Given the description of an element on the screen output the (x, y) to click on. 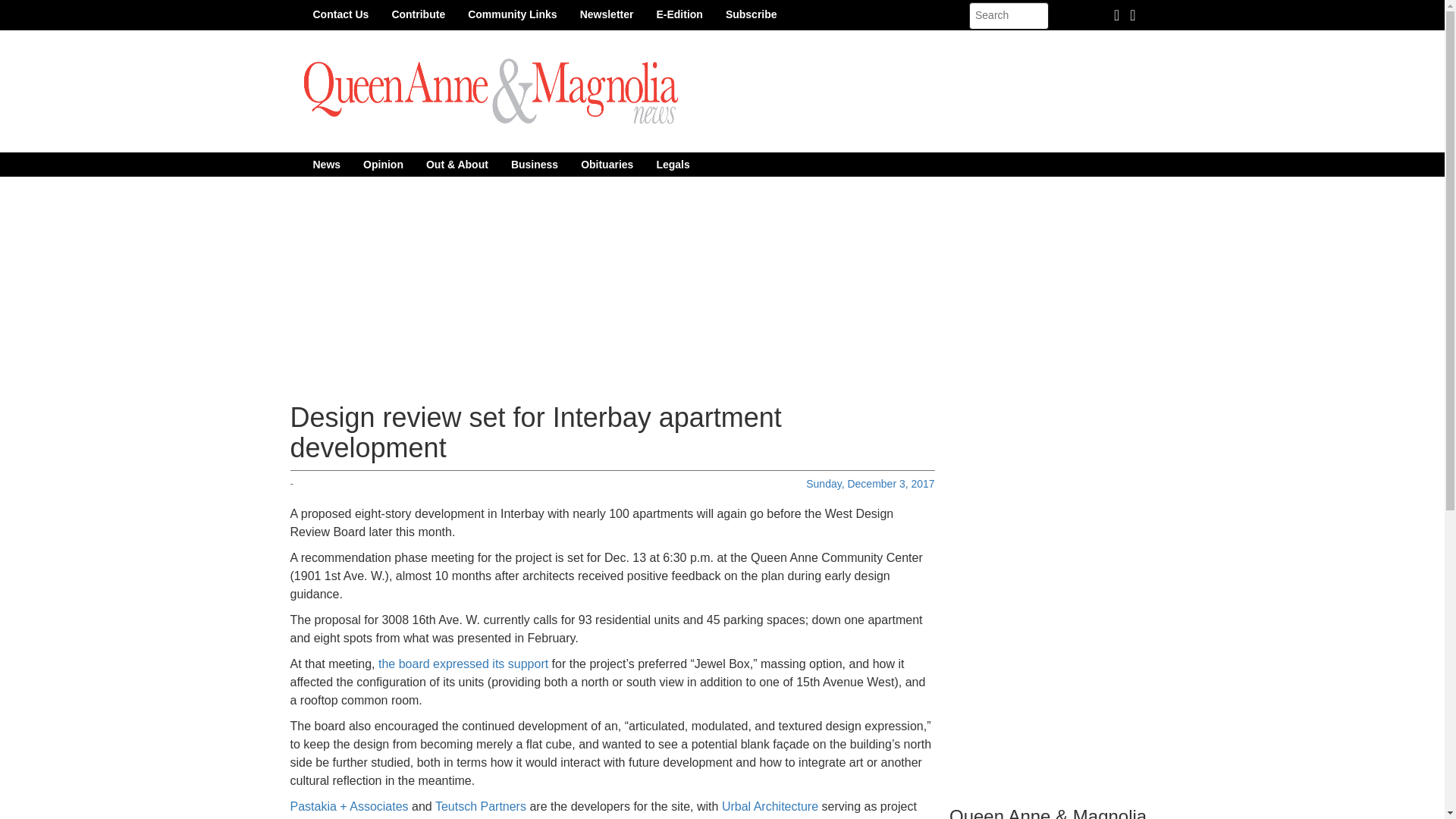
Legals (672, 164)
News (326, 164)
E-Edition (679, 14)
Contact Us (340, 14)
Sunday, December 3, 2017 (870, 483)
Obituaries (607, 164)
Business (534, 164)
Contribute (418, 14)
Newsletter (607, 14)
Opinion (383, 164)
Community Links (512, 14)
Subscribe (751, 14)
